Given the description of an element on the screen output the (x, y) to click on. 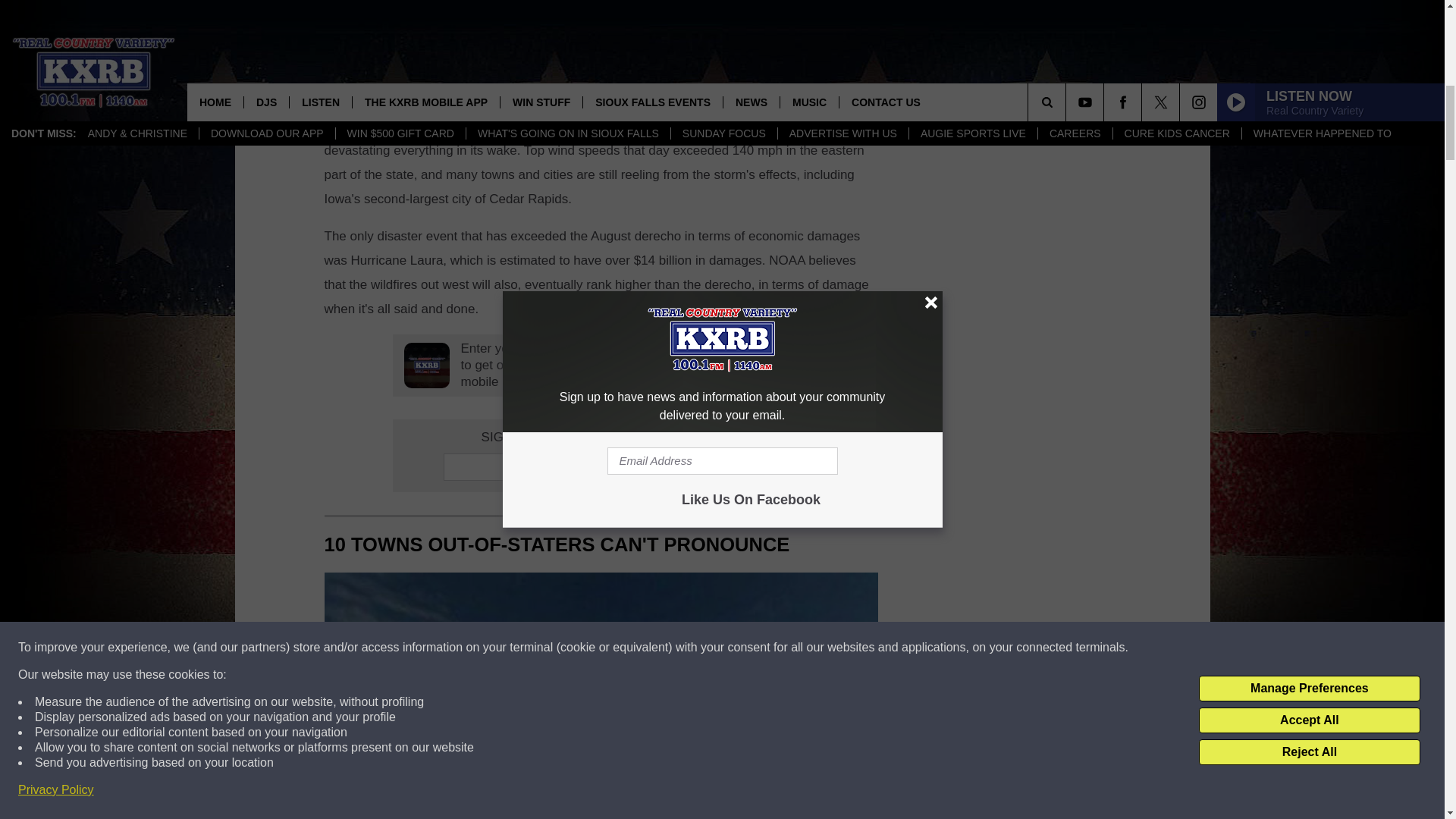
Email Address (600, 466)
